Given the description of an element on the screen output the (x, y) to click on. 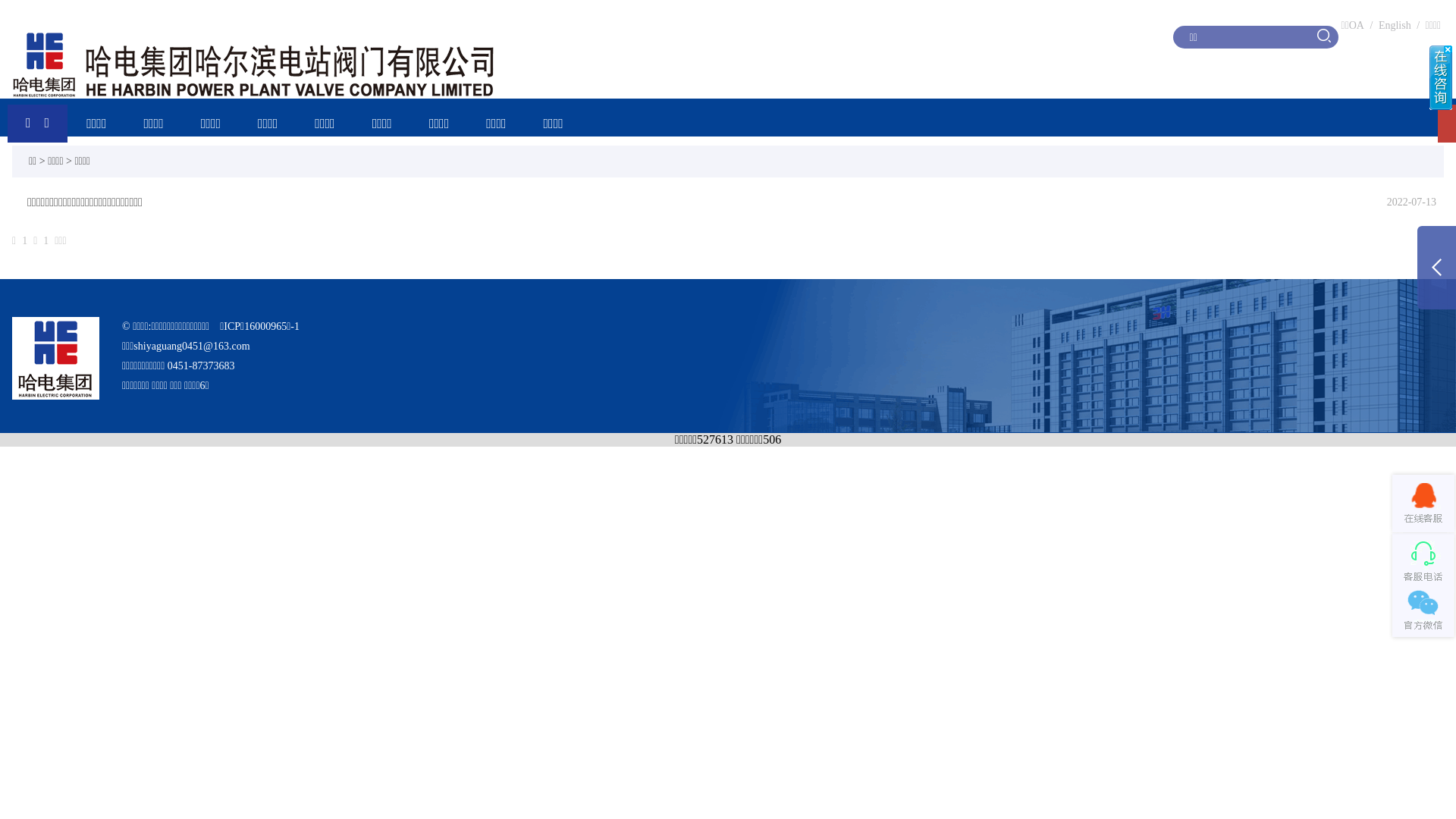
English Element type: text (1394, 25)
